Given the description of an element on the screen output the (x, y) to click on. 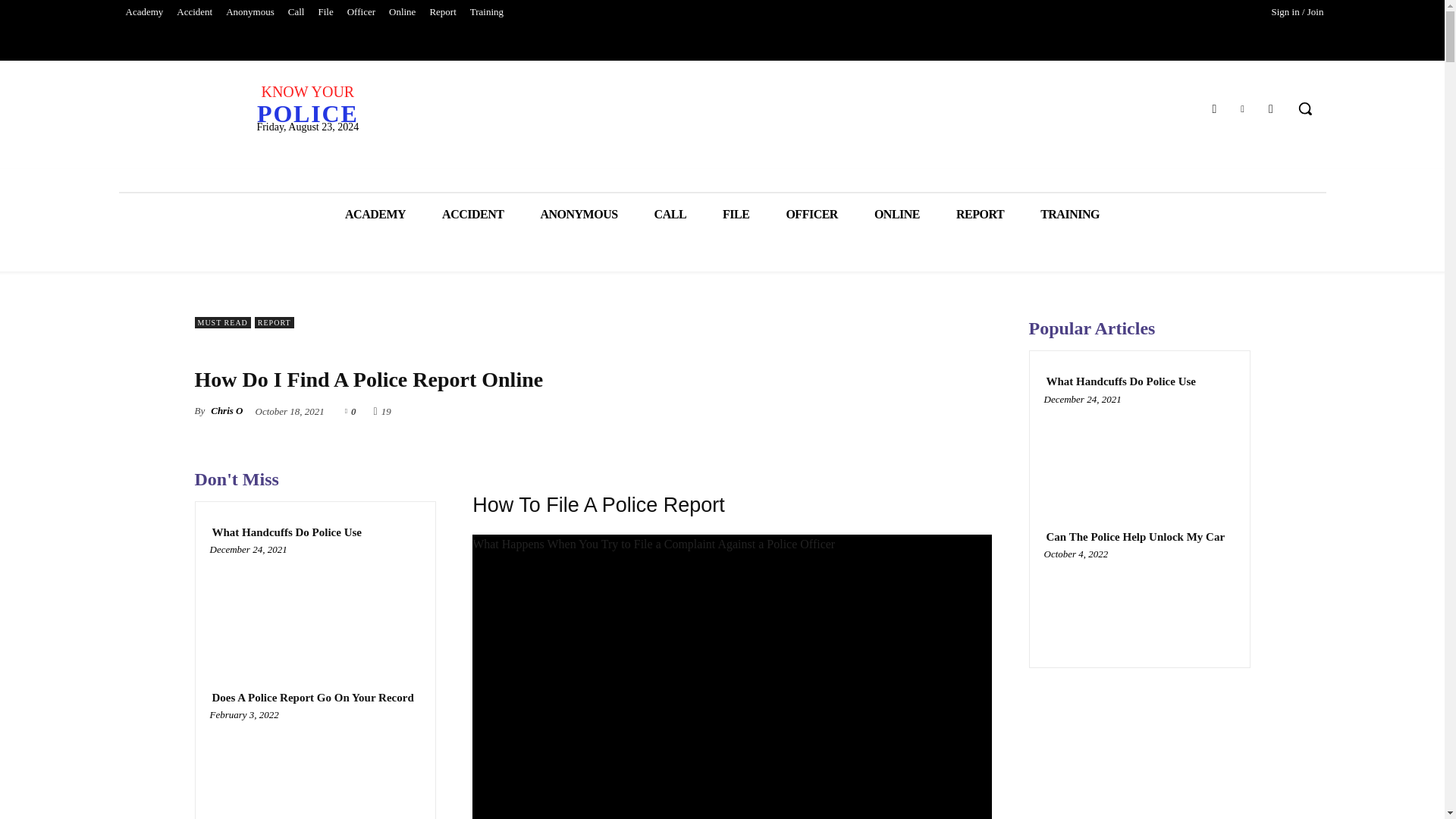
What Handcuffs Do Police Use (286, 532)
ACCIDENT (472, 214)
Anonymous (250, 12)
Online (401, 12)
Does A Police Report Go On Your Record (311, 697)
Report (442, 12)
Twitter (1241, 108)
Call (296, 12)
Officer (360, 12)
Training (487, 12)
